Given the description of an element on the screen output the (x, y) to click on. 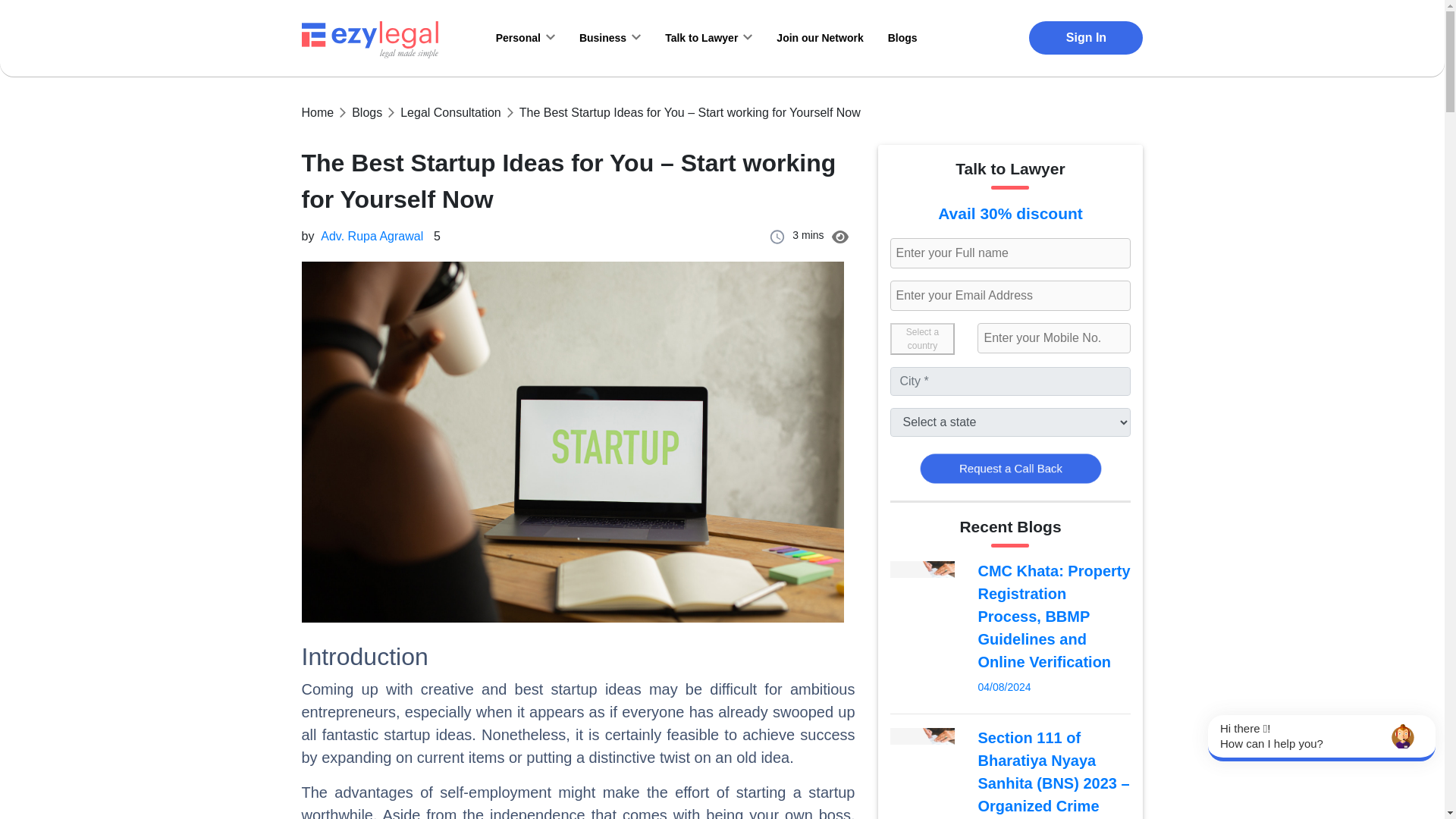
Blogs (366, 113)
Adv. Rupa Agrawal (371, 242)
Join our Network (819, 37)
Home (317, 113)
Sign In (1085, 37)
Talk to Lawyer (708, 36)
Legal Consultation (450, 113)
Select a country (922, 338)
Personal (525, 36)
Business (609, 36)
